Given the description of an element on the screen output the (x, y) to click on. 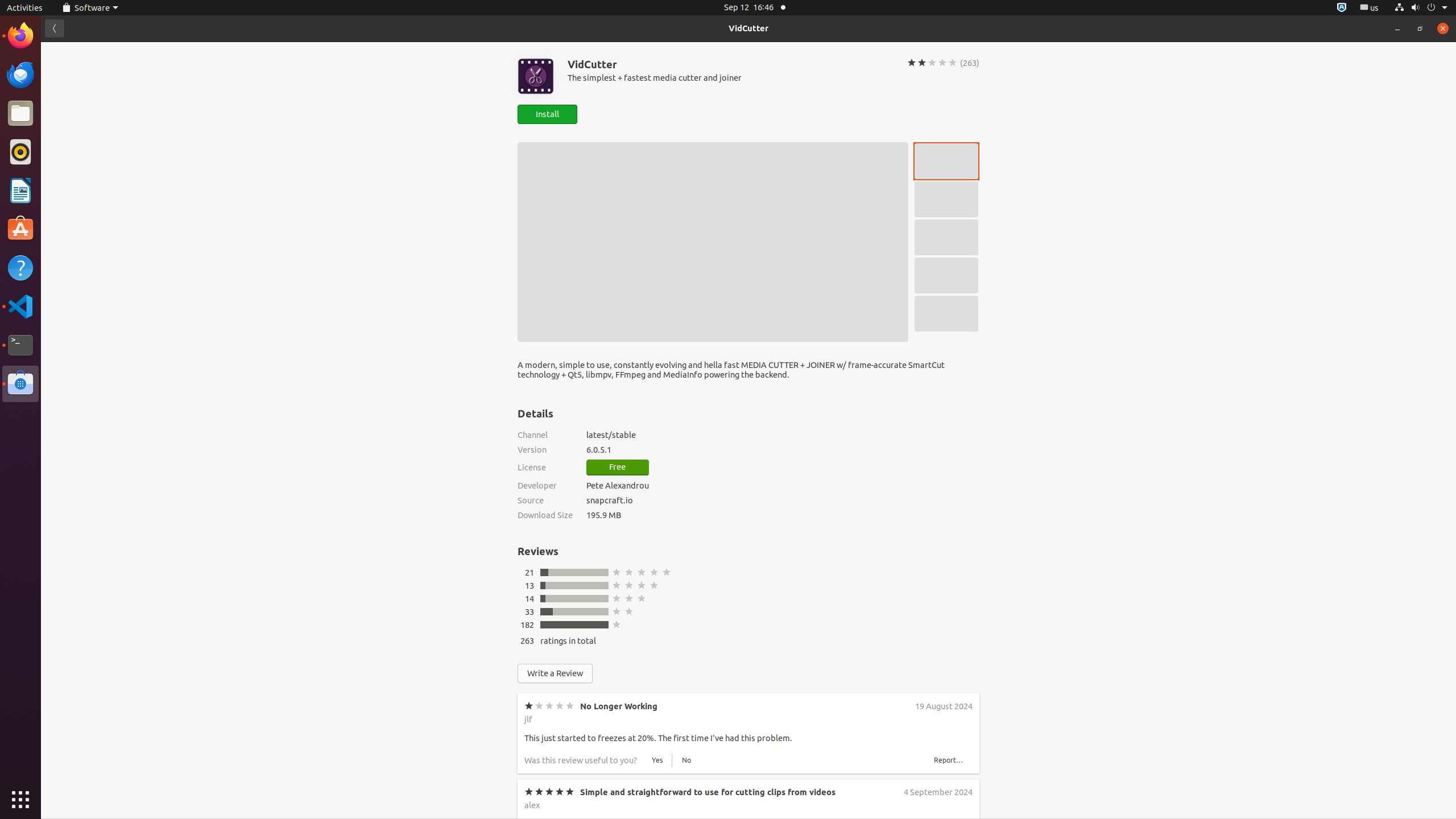
IsaHelpMain.desktop Element type: label (75, 170)
Firefox Web Browser Element type: push-button (20, 35)
182 Element type: label (527, 624)
Install Element type: push-button (547, 113)
